Given the description of an element on the screen output the (x, y) to click on. 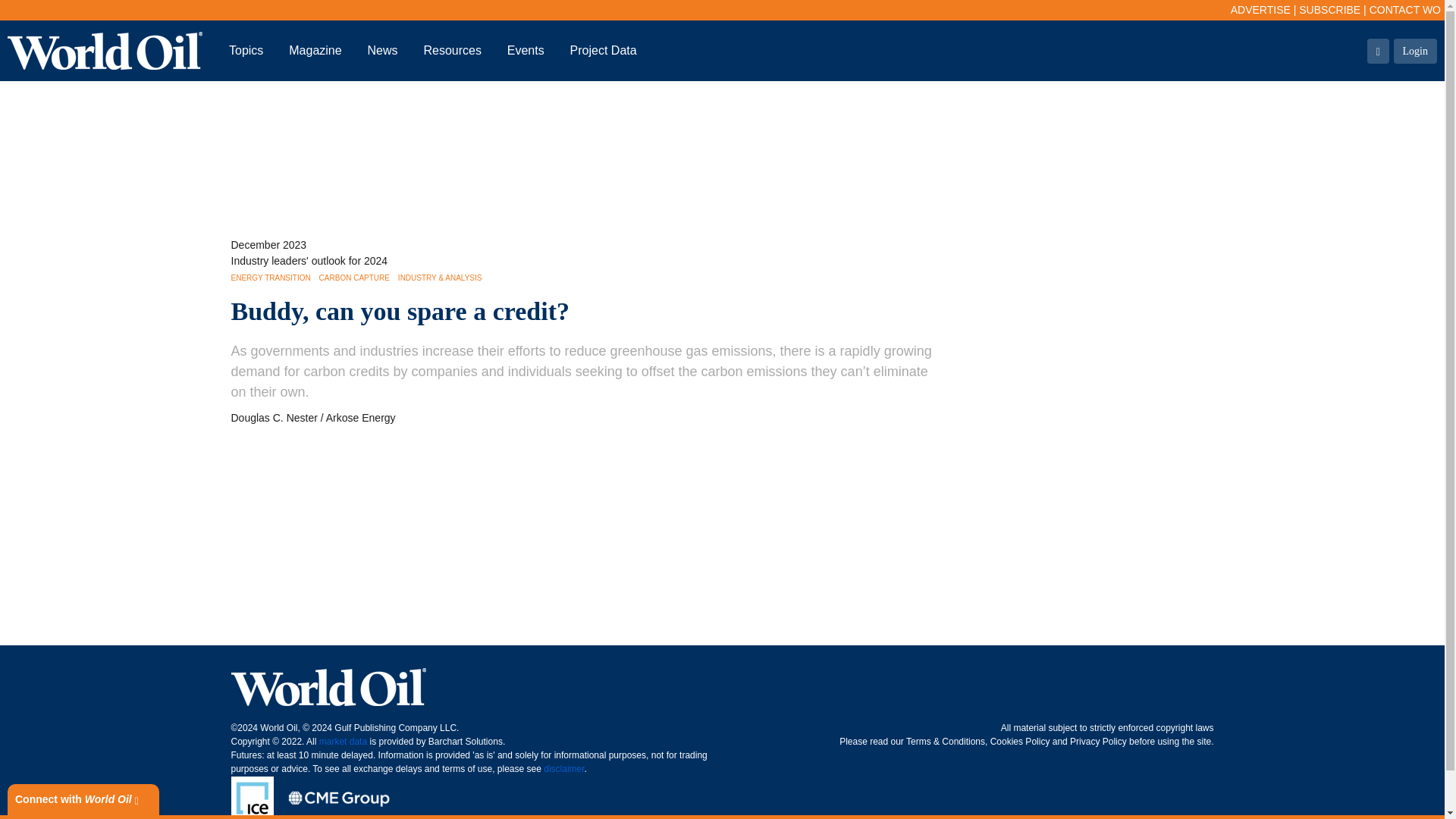
SUBSCRIBE (1328, 9)
3rd party ad content (721, 574)
CONTACT WO (1405, 9)
3rd party ad content (721, 151)
Topics (245, 50)
ADVERTISE (1260, 9)
